Given the description of an element on the screen output the (x, y) to click on. 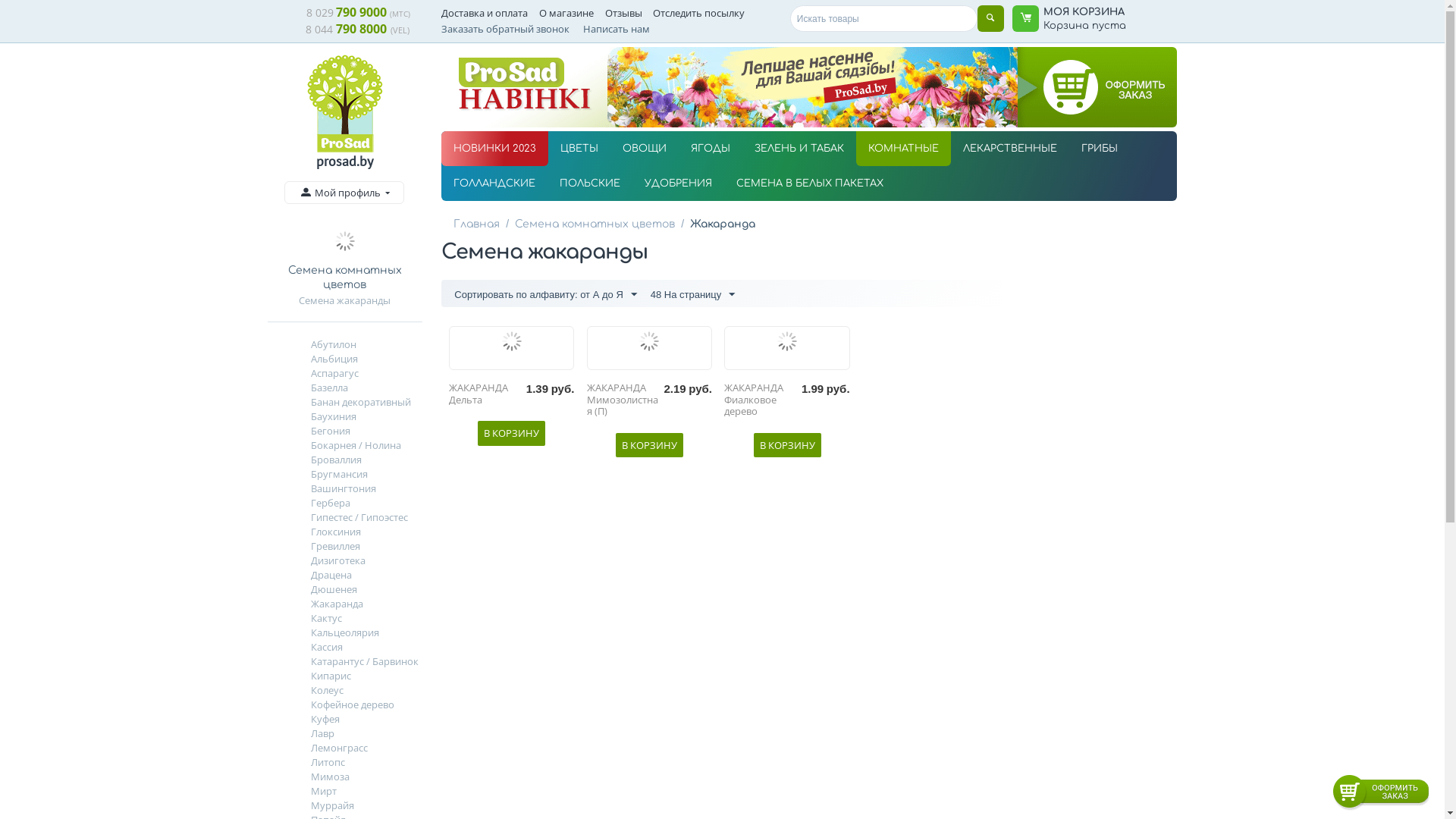
prosad.by Element type: text (343, 160)
8 044 790 8000 (VEL) Element type: text (357, 29)
